Given the description of an element on the screen output the (x, y) to click on. 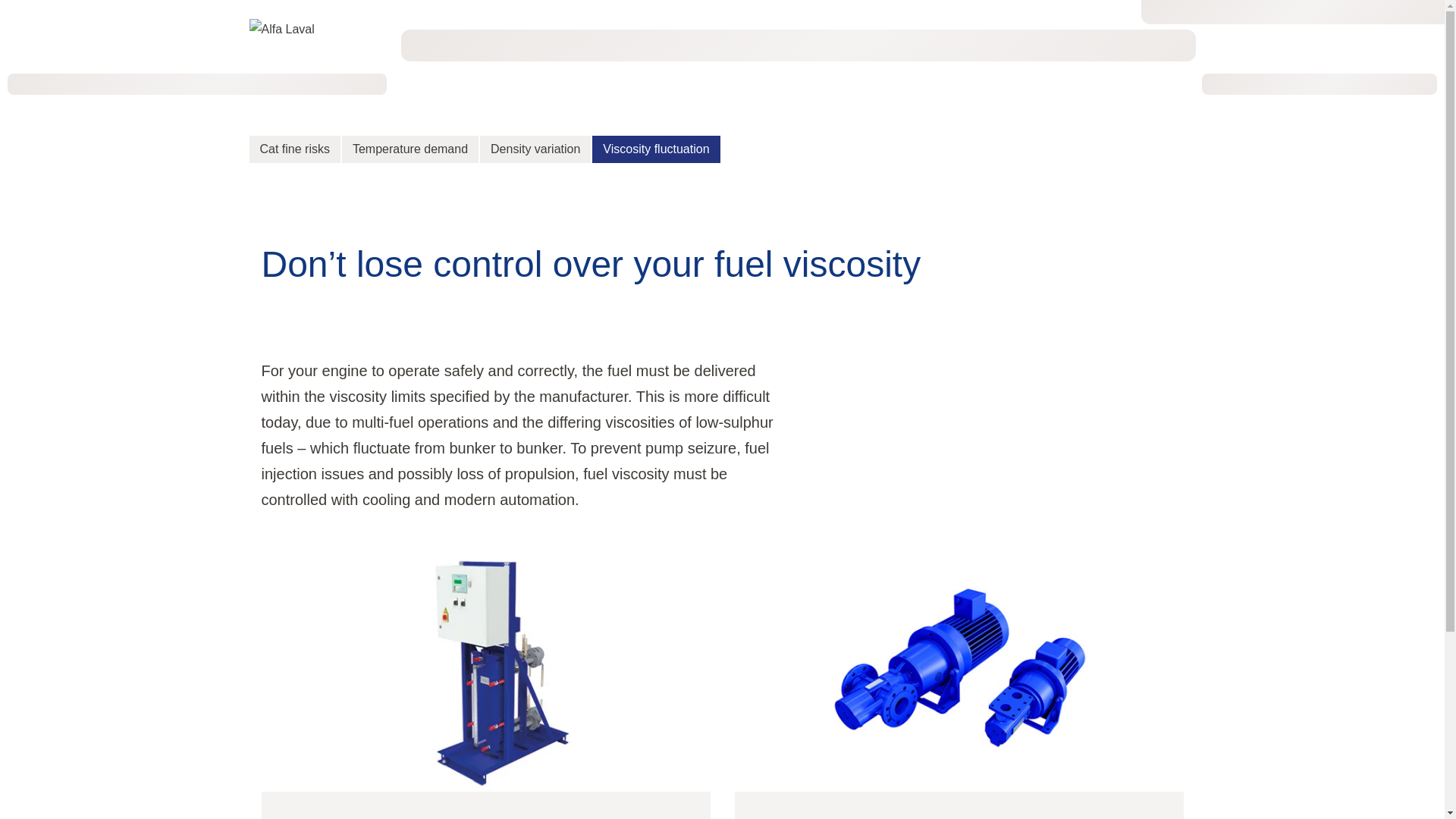
Viscosity fluctuation Element type: text (655, 149)
Temperature demand Element type: text (410, 149)
Cat fine risks Element type: text (293, 149)
Density variation Element type: text (535, 149)
